Given the description of an element on the screen output the (x, y) to click on. 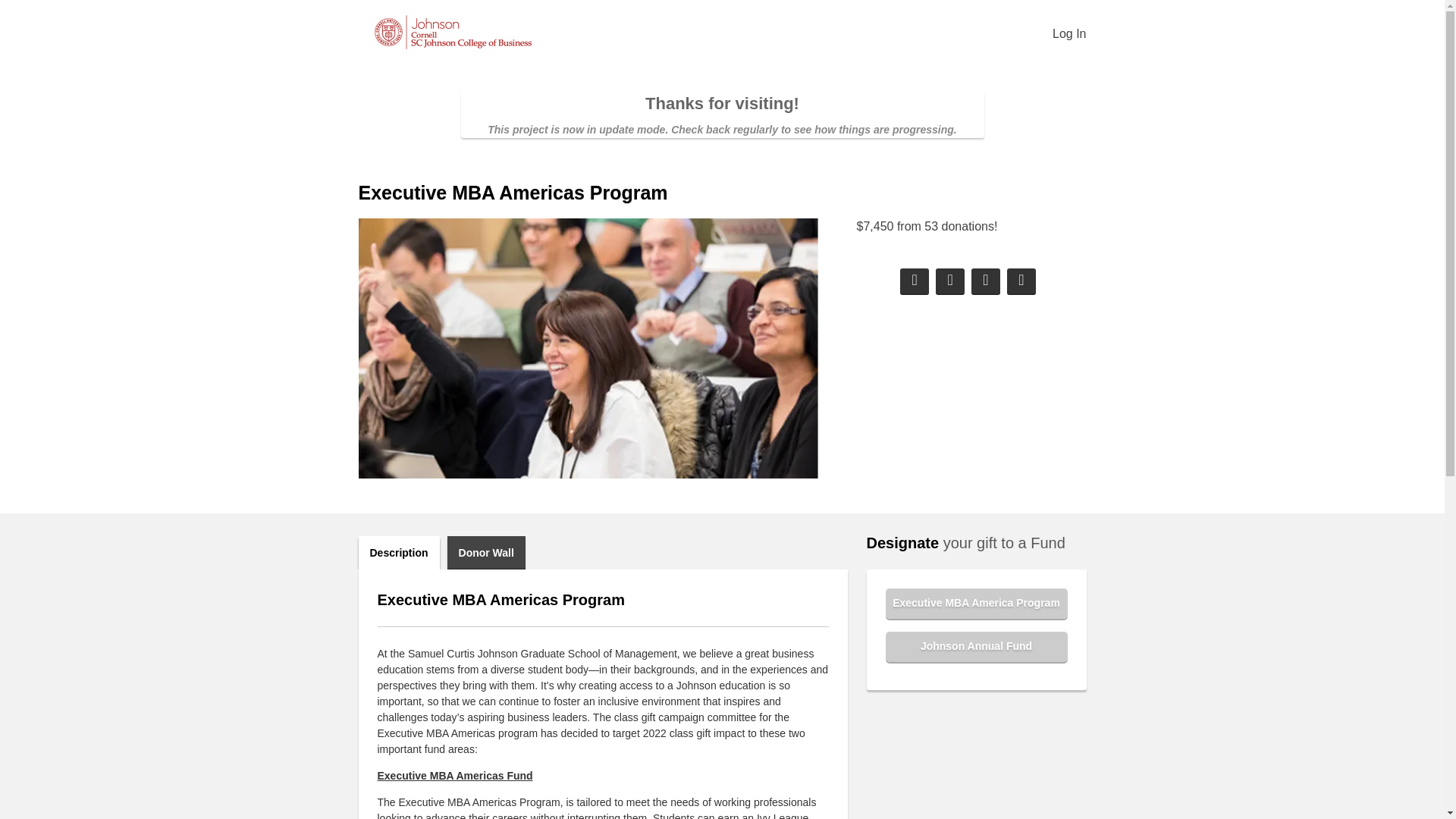
Donor Wall (485, 552)
Share on LinkedIn (985, 281)
Executive MBA Americas Program Image (587, 348)
Description (398, 552)
Johnson Annual Fund (976, 647)
Share on X (949, 281)
Johnson Class Campaigns (452, 31)
Share Plain (1021, 281)
Share on Facebook (913, 281)
Executive MBA America Program (976, 603)
Log In (1069, 33)
